Given the description of an element on the screen output the (x, y) to click on. 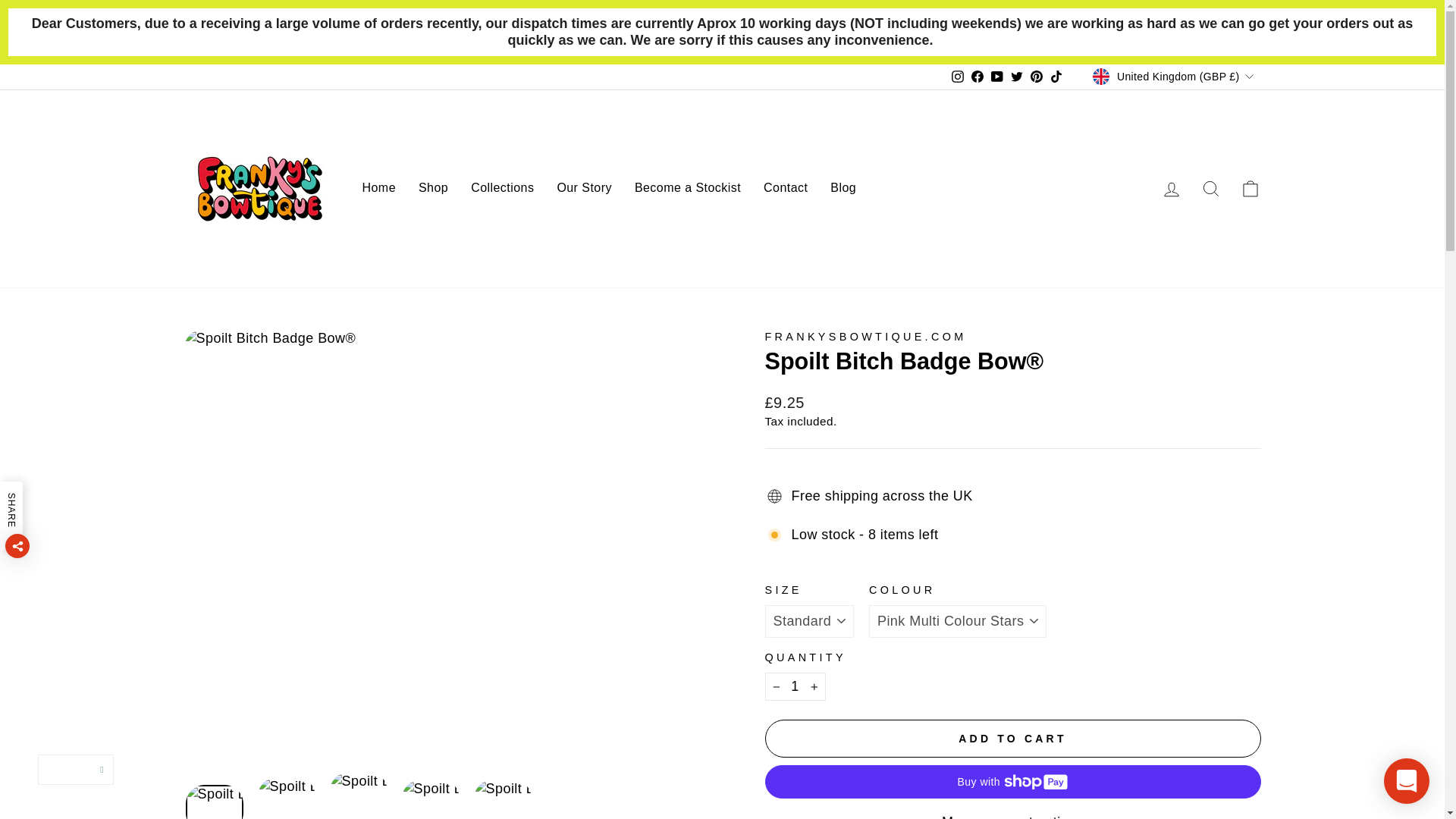
1 (794, 686)
frankysbowtique.com (865, 336)
